Given the description of an element on the screen output the (x, y) to click on. 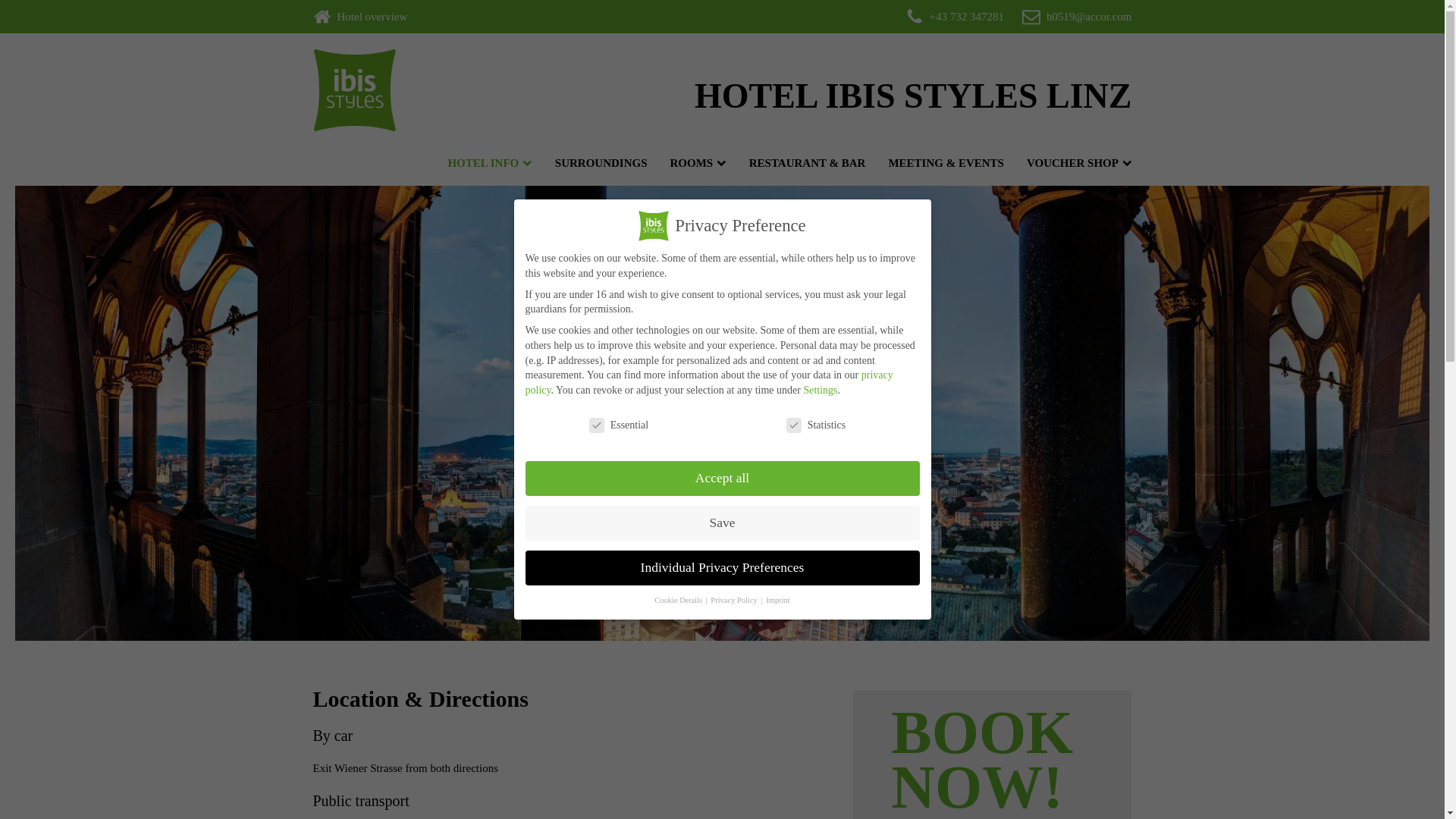
Accept all (721, 478)
Settings (820, 389)
HOTEL INFO (485, 162)
ROOMS (694, 162)
SURROUNDINGS (597, 162)
VOUCHER SHOP (1075, 162)
privacy policy (708, 382)
Hotel overview (371, 16)
